Given the description of an element on the screen output the (x, y) to click on. 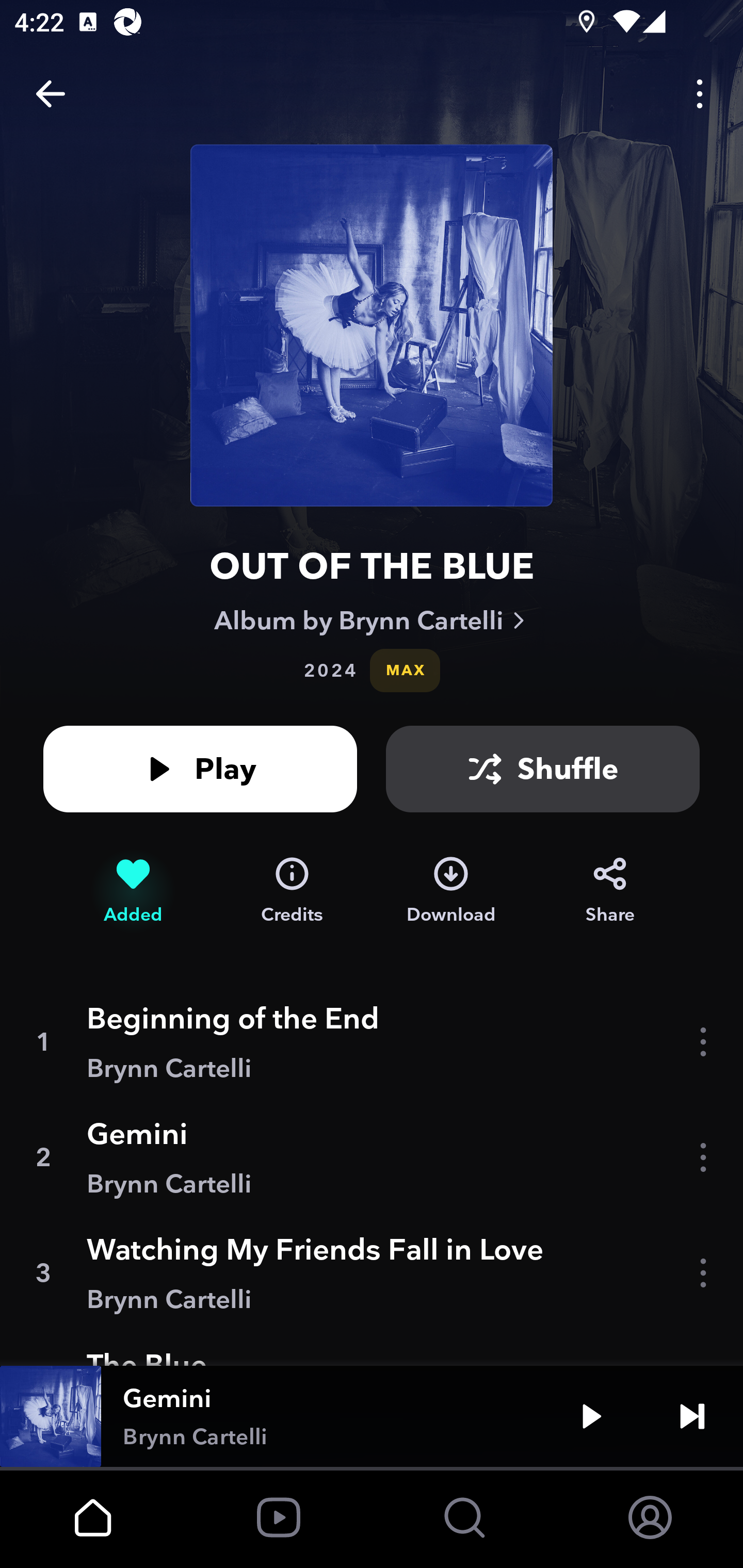
Options (699, 93)
OUT OF THE BLUE (371, 565)
Album by Brynn Cartelli (371, 619)
Play (200, 768)
Shuffle (542, 768)
Remove from My Collection Added (132, 890)
Credits (291, 890)
Download (450, 890)
Share (609, 890)
1 Beginning of the End Brynn Cartelli (371, 1041)
2 Gemini Brynn Cartelli (371, 1157)
3 Watching My Friends Fall in Love Brynn Cartelli (371, 1273)
Gemini Brynn Cartelli Play (371, 1416)
Play (590, 1416)
